Given the description of an element on the screen output the (x, y) to click on. 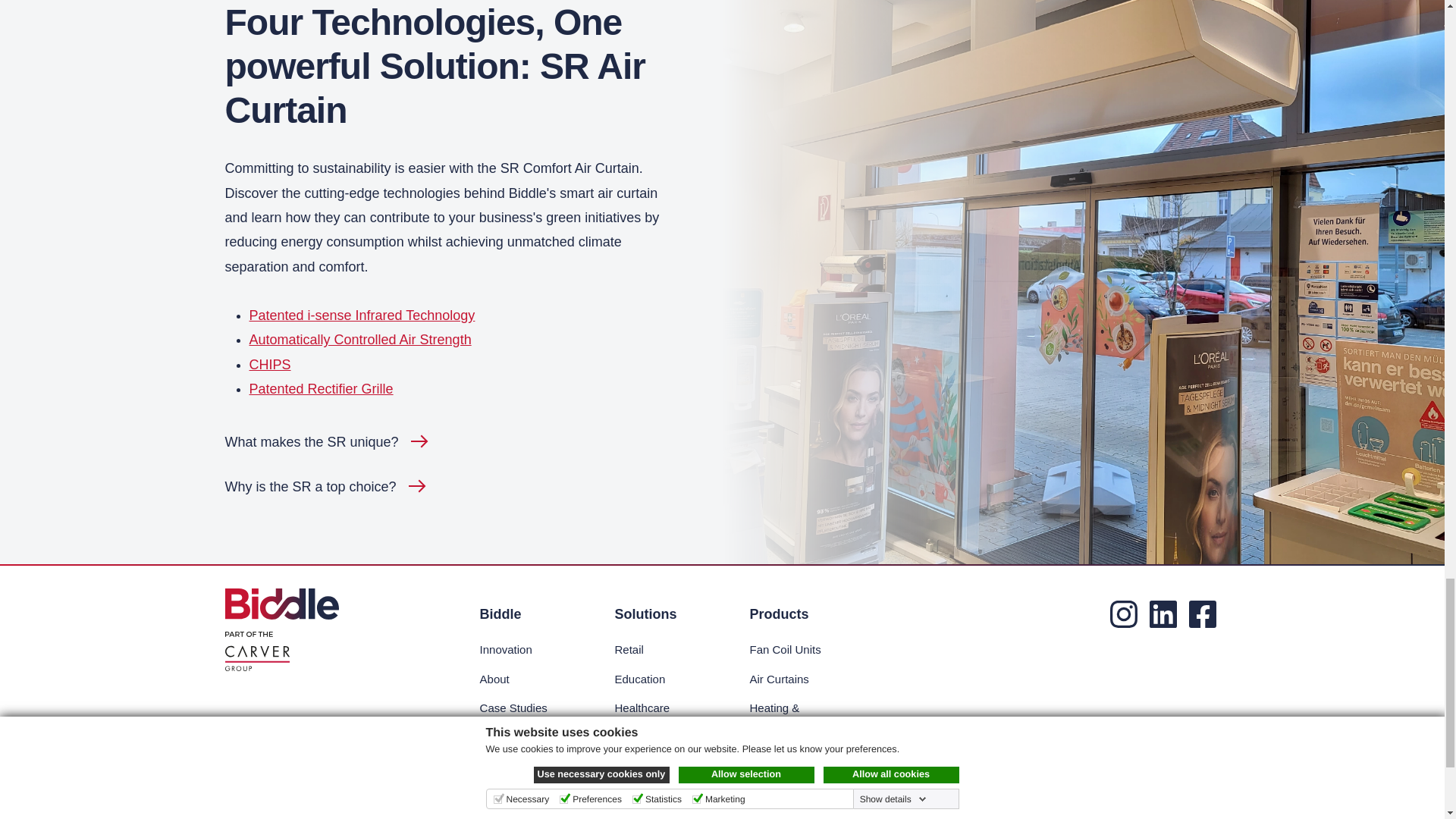
Instagram logo (1123, 614)
LinkedIn logo (1163, 614)
Facebook logo (1202, 614)
